Given the description of an element on the screen output the (x, y) to click on. 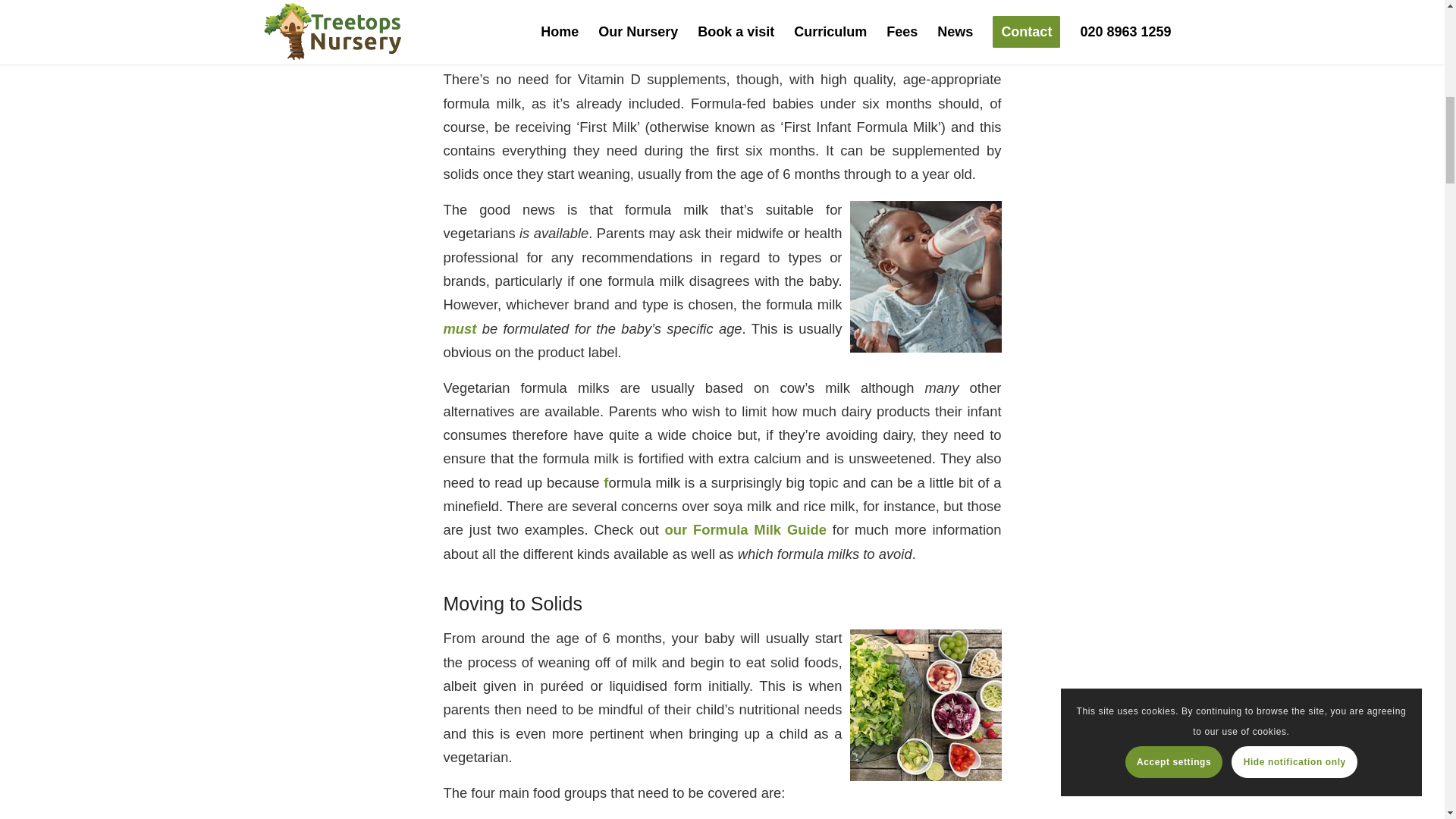
our Formula Milk Guide (746, 529)
